Given the description of an element on the screen output the (x, y) to click on. 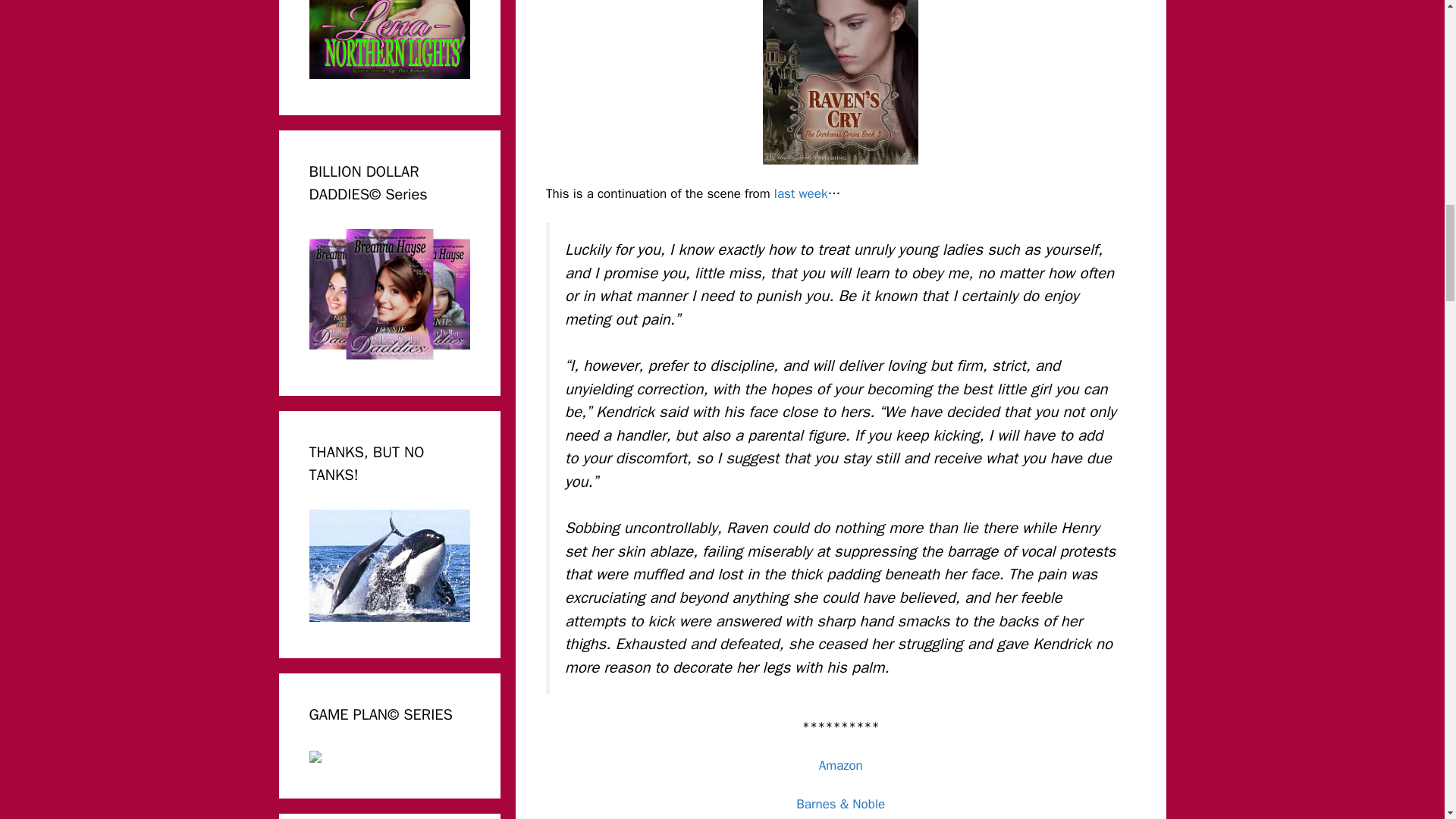
Amazon (840, 765)
last week (801, 193)
